Given the description of an element on the screen output the (x, y) to click on. 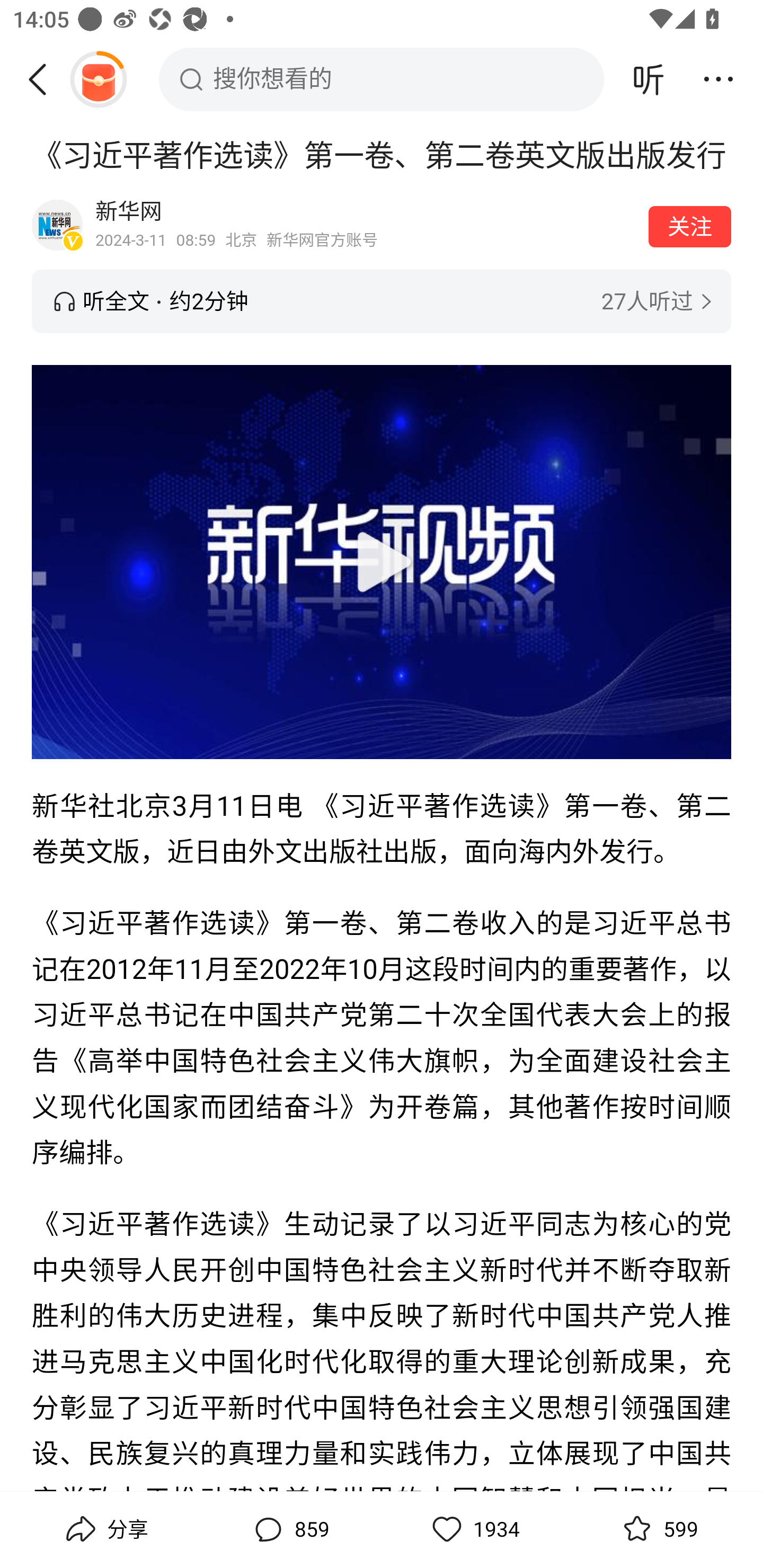
返回 (44, 78)
听头条 (648, 78)
更多操作 (718, 78)
搜你想看的 搜索框，搜你想看的 (381, 79)
阅读赚金币 (98, 79)
作者：新华网，简介：新华网官方账号，2024-3-11 08:59发布，北京 (365, 224)
关注作者 (689, 226)
听全文 约2分钟 27人听过 (381, 300)
播放视频 (381, 560)
播放视频 (381, 561)
分享 (104, 1529)
评论,859 859 (288, 1529)
收藏,599 599 (658, 1529)
